Given the description of an element on the screen output the (x, y) to click on. 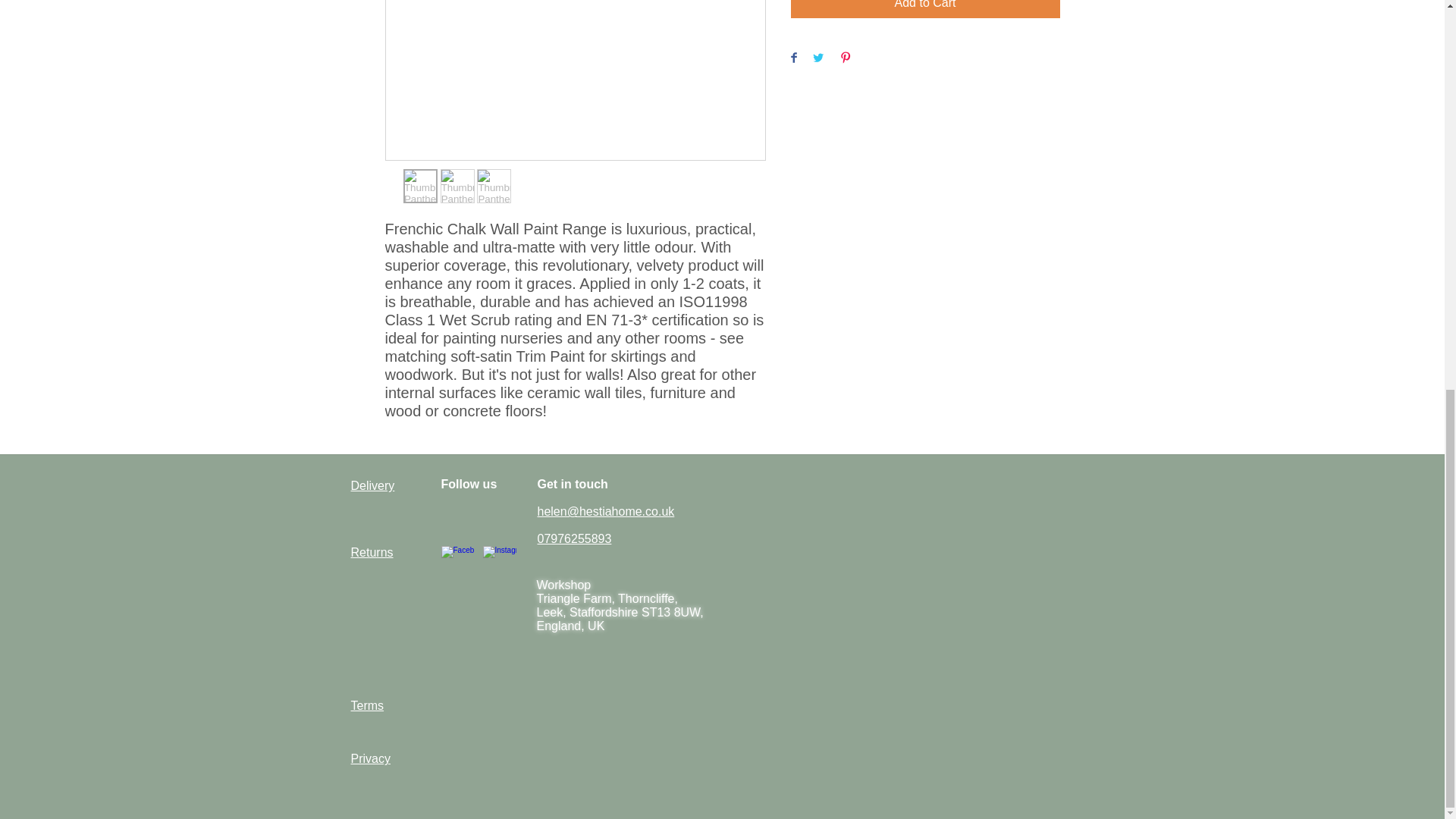
Returns (371, 552)
Add to Cart (924, 9)
Delivery (372, 485)
Terms (367, 705)
